Given the description of an element on the screen output the (x, y) to click on. 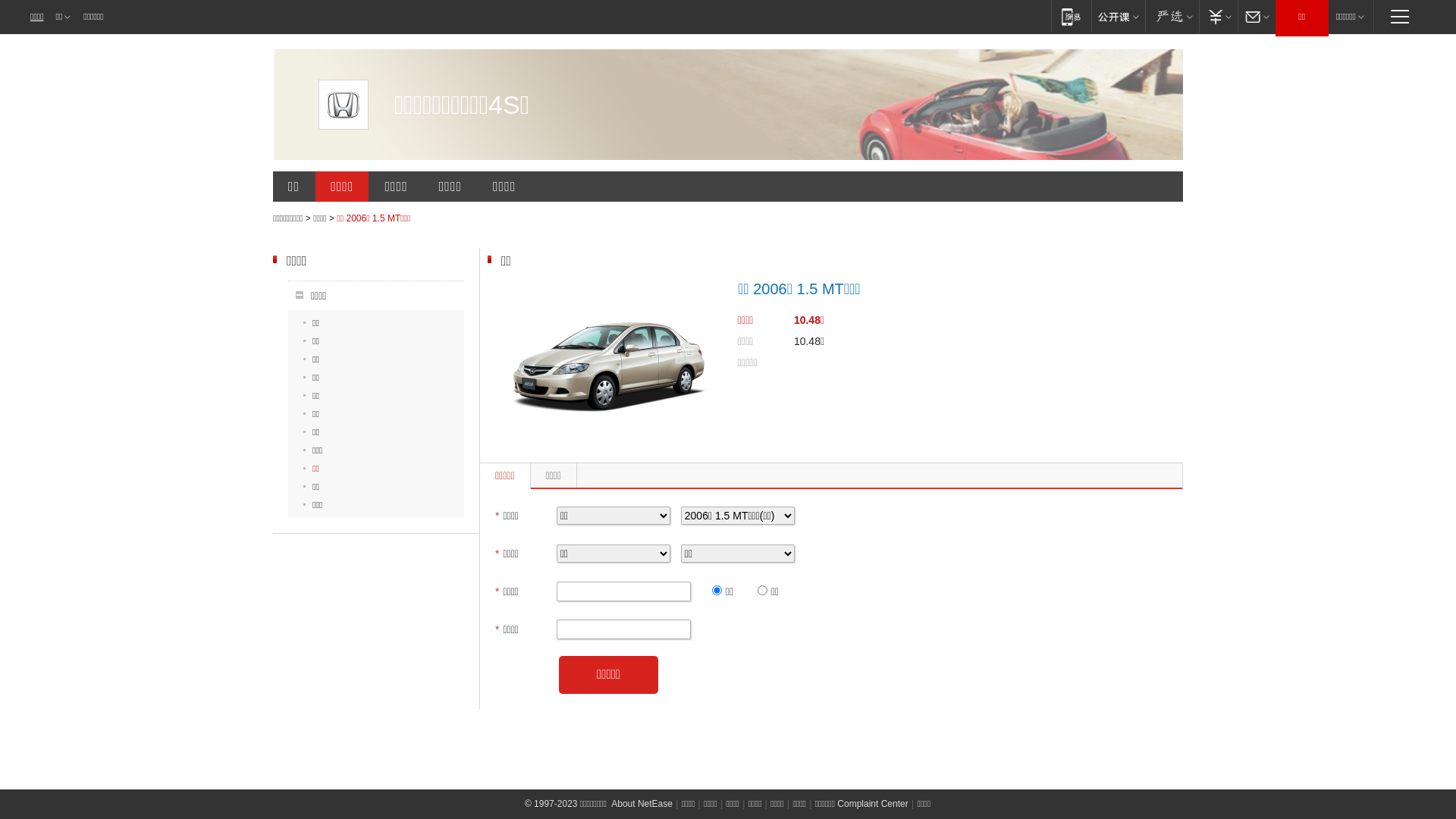
About NetEase Element type: text (641, 803)
